Given the description of an element on the screen output the (x, y) to click on. 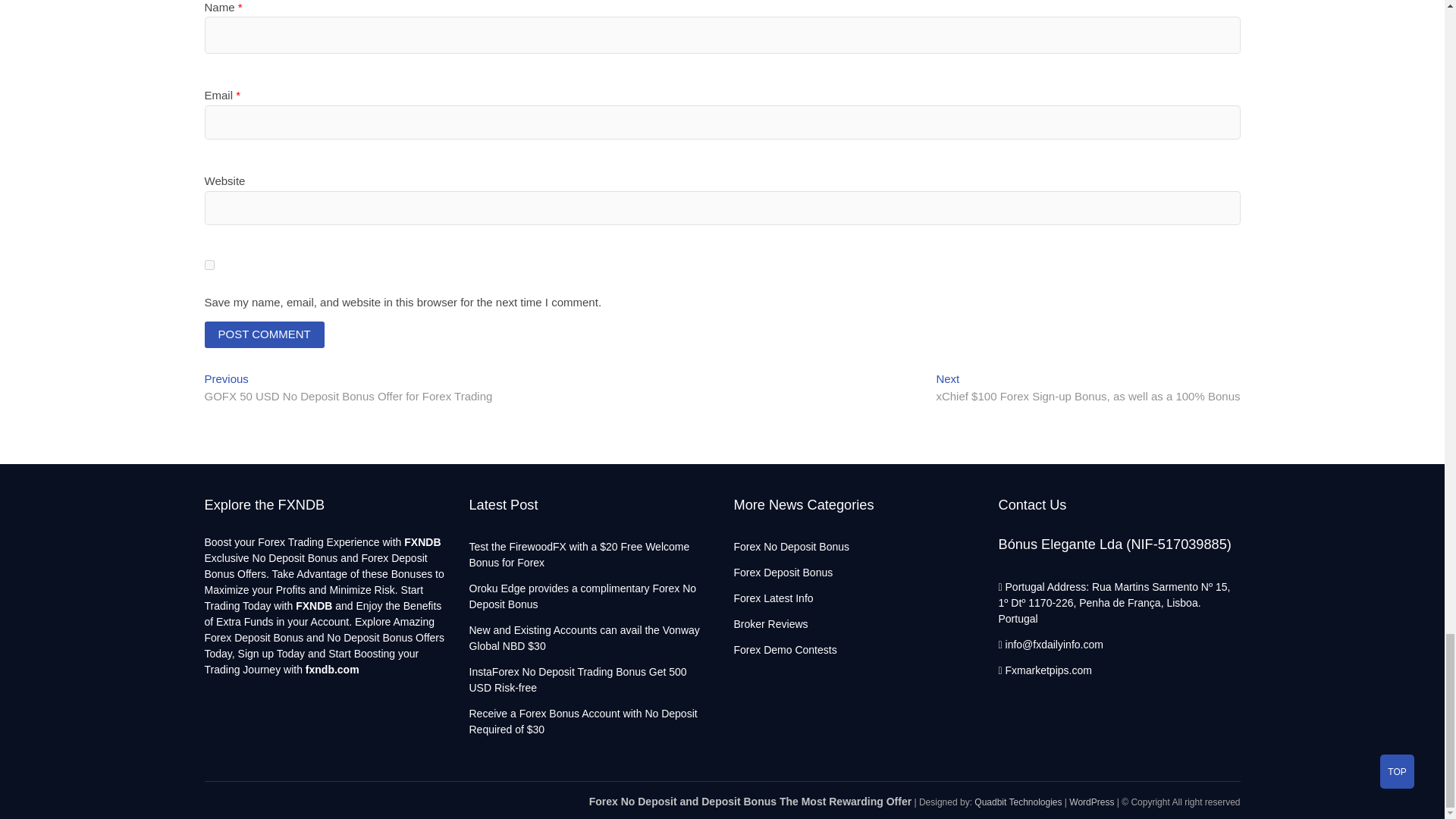
yes (209, 265)
Post Comment (264, 334)
